Given the description of an element on the screen output the (x, y) to click on. 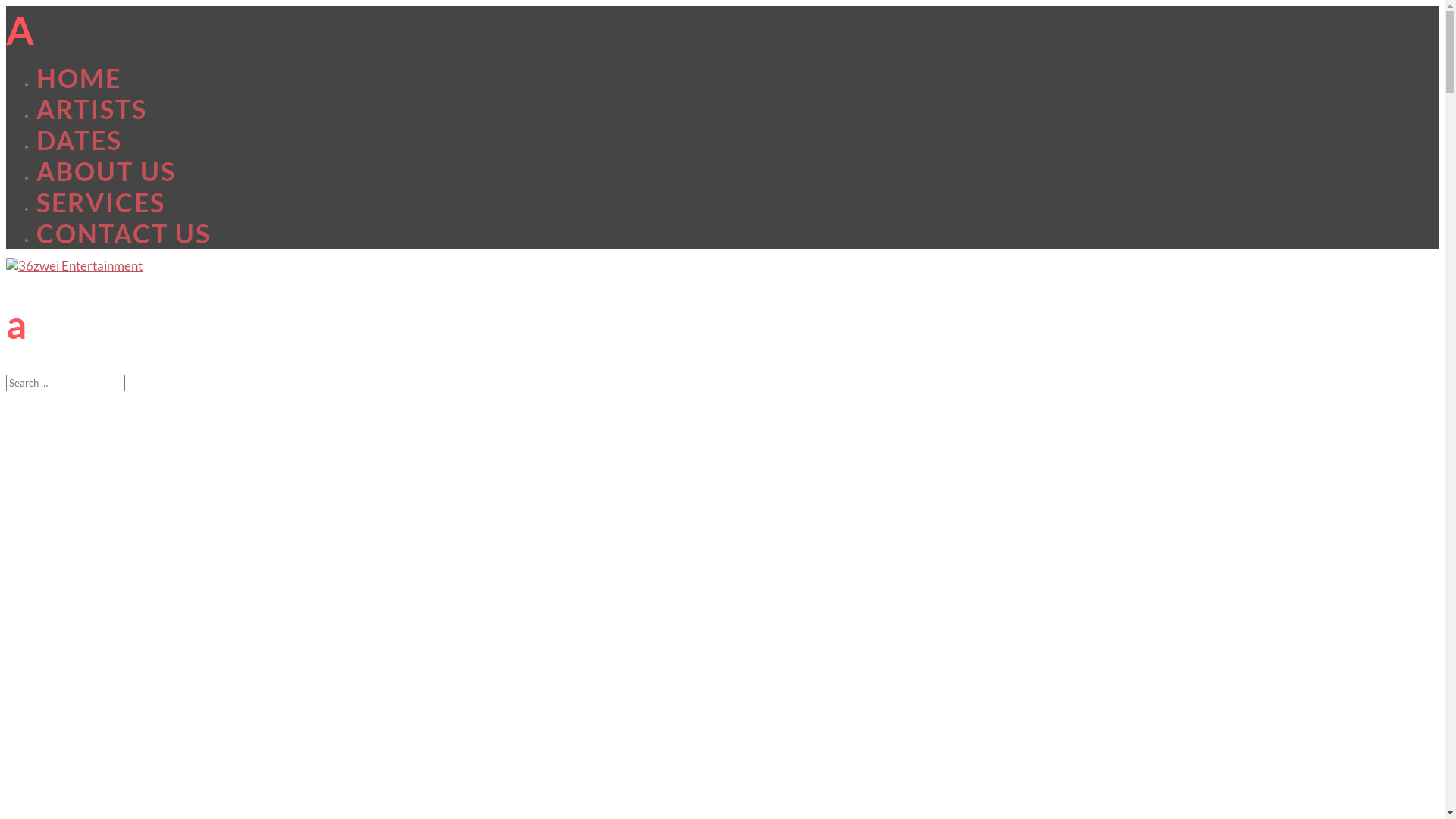
SERVICES Element type: text (100, 201)
Search for: Element type: hover (65, 382)
CONTACT US Element type: text (123, 232)
HOME Element type: text (78, 77)
ABOUT US Element type: text (105, 170)
ARTISTS Element type: text (91, 108)
DATES Element type: text (79, 139)
